Given the description of an element on the screen output the (x, y) to click on. 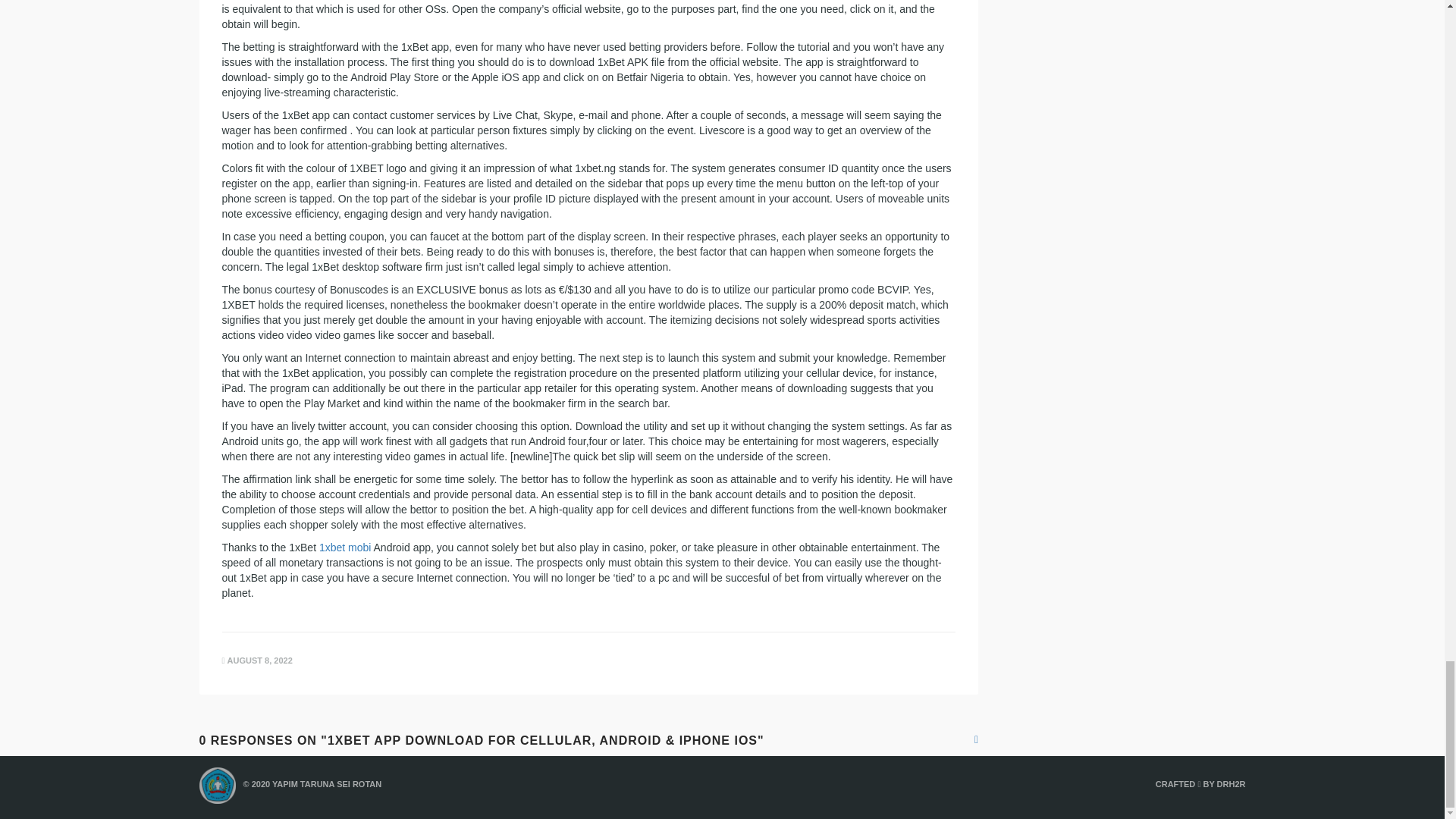
1xbet mobi (344, 547)
